Given the description of an element on the screen output the (x, y) to click on. 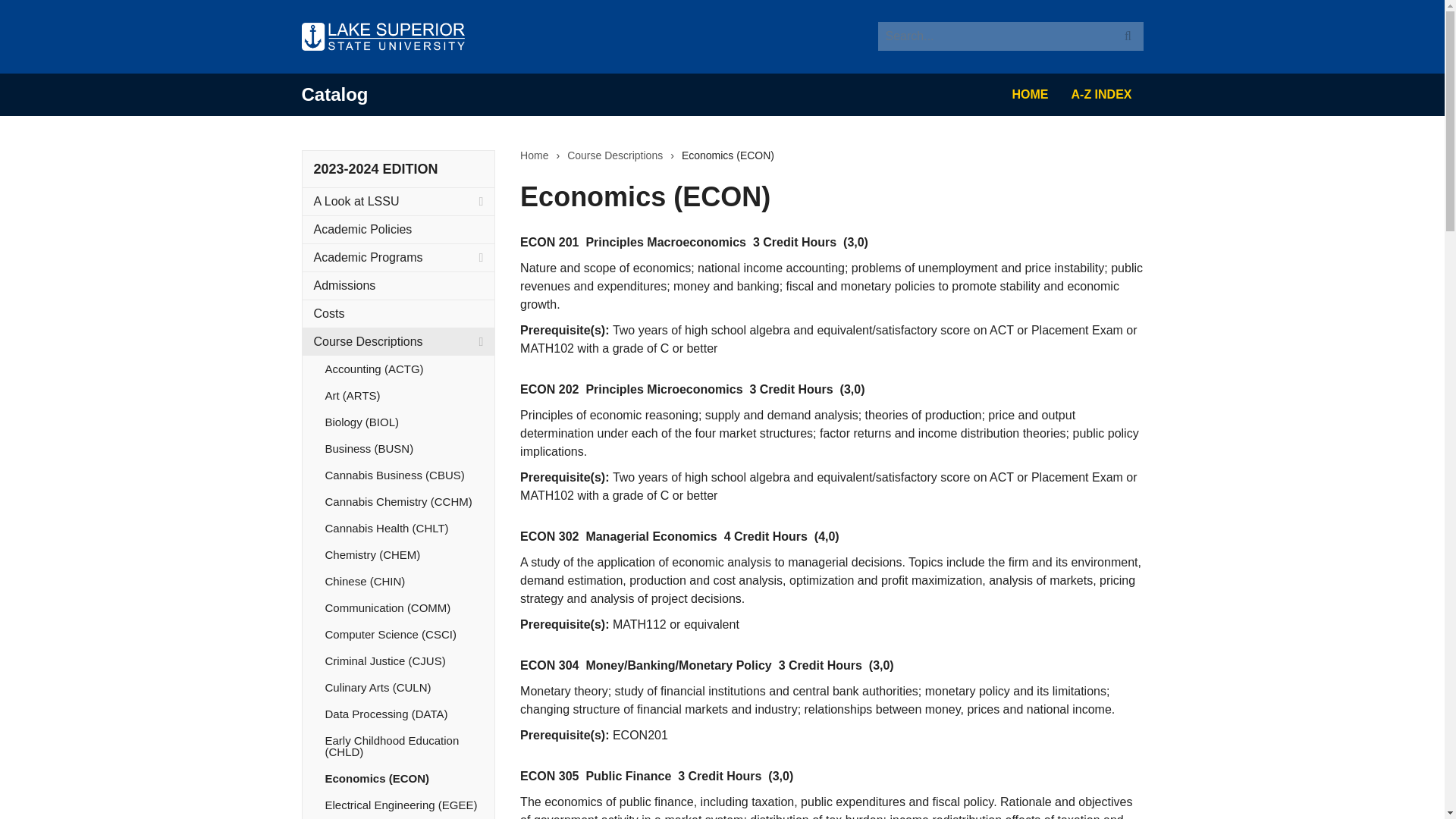
Submit search (1127, 36)
HOME (1030, 94)
Toggle A Look at LSSU (481, 201)
A-Z INDEX (1100, 94)
Academic Policies (397, 229)
A Look at LSSU (397, 201)
Toggle Academic Programs (481, 257)
Academic Programs (397, 257)
Catalog (334, 94)
2023-2024 EDITION (376, 168)
